Given the description of an element on the screen output the (x, y) to click on. 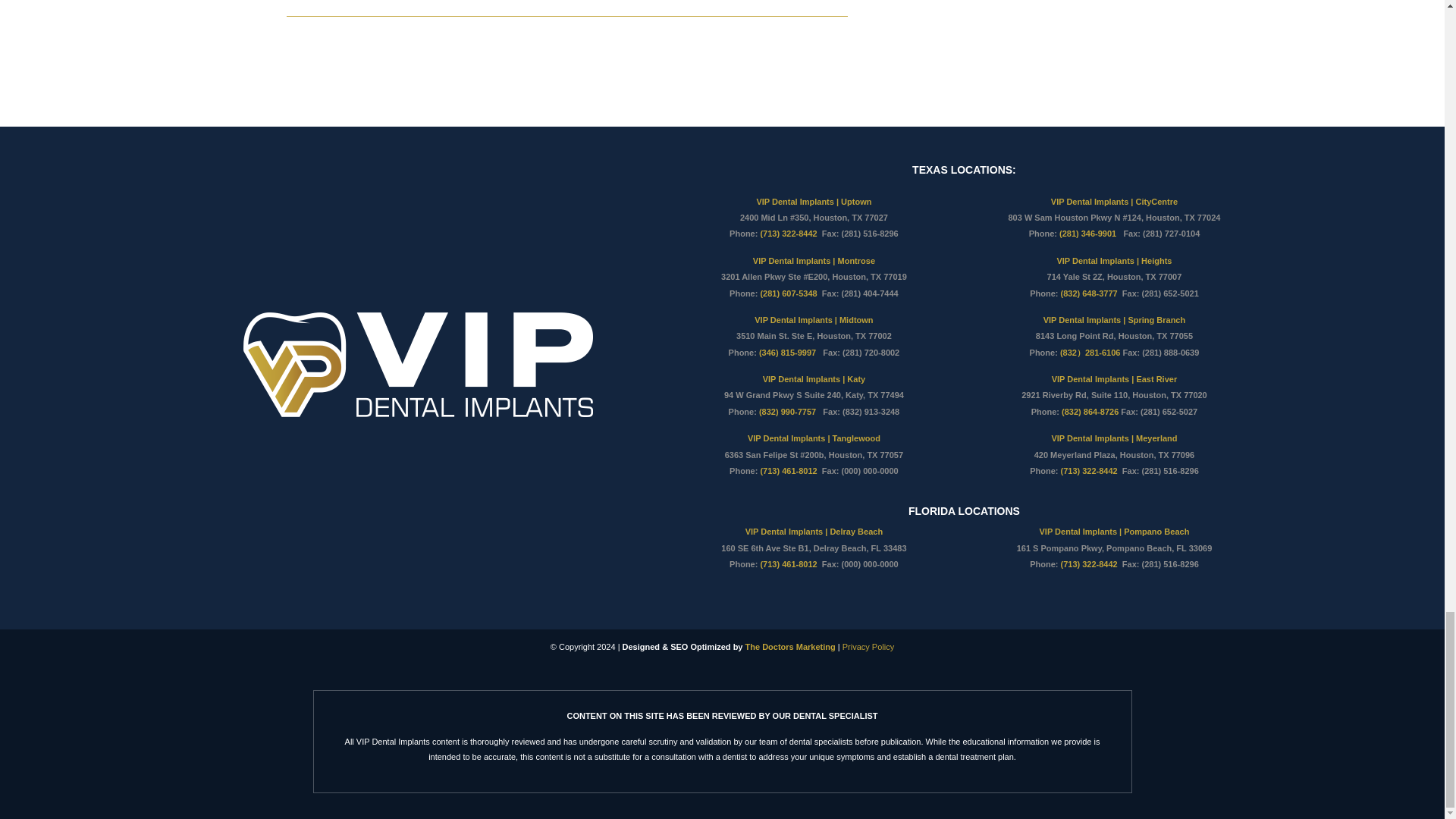
The Doctors Marketing (790, 646)
 Privacy Policy (867, 646)
